Given the description of an element on the screen output the (x, y) to click on. 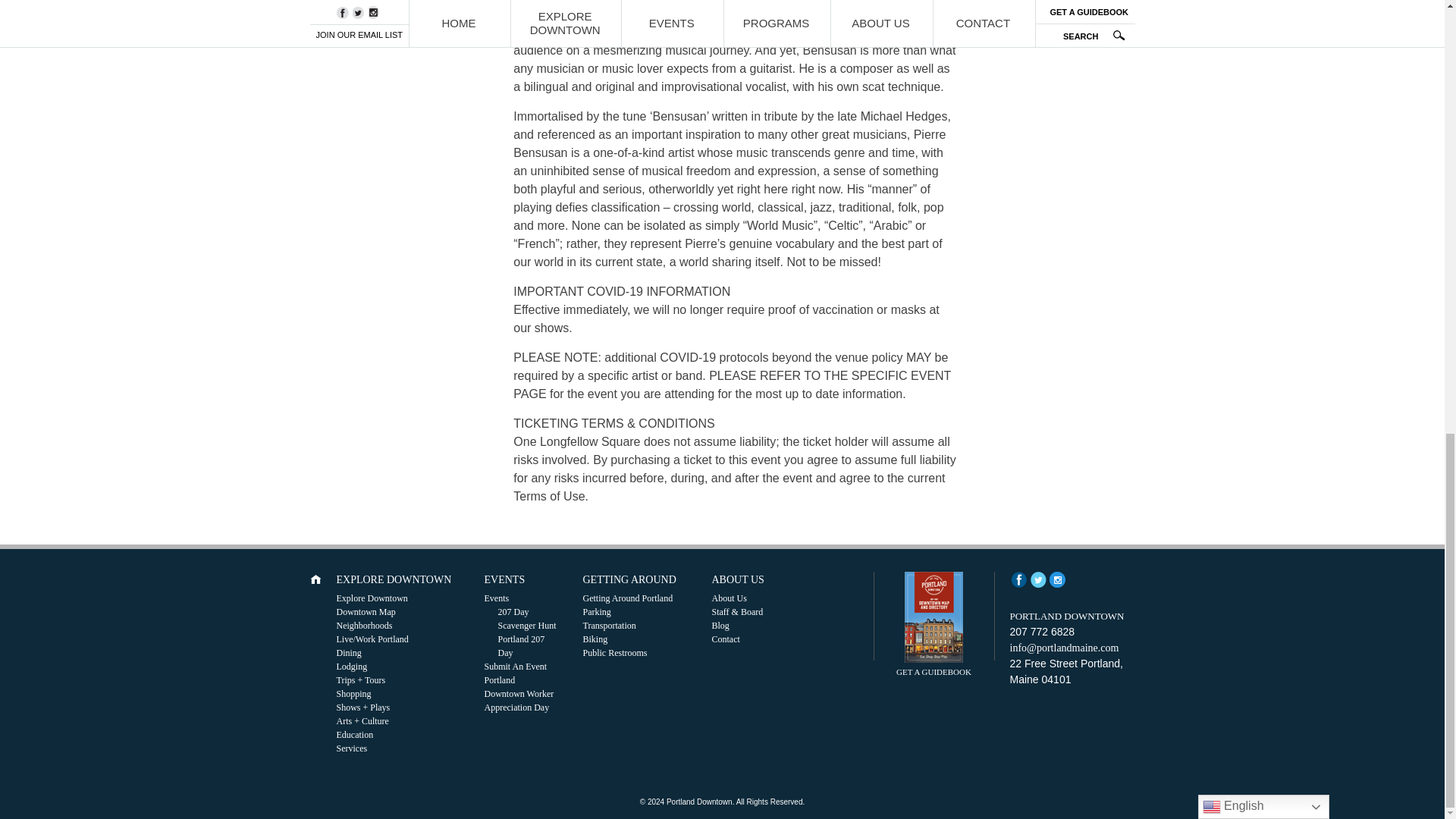
twitter (1037, 579)
Facebook (1019, 579)
